Given the description of an element on the screen output the (x, y) to click on. 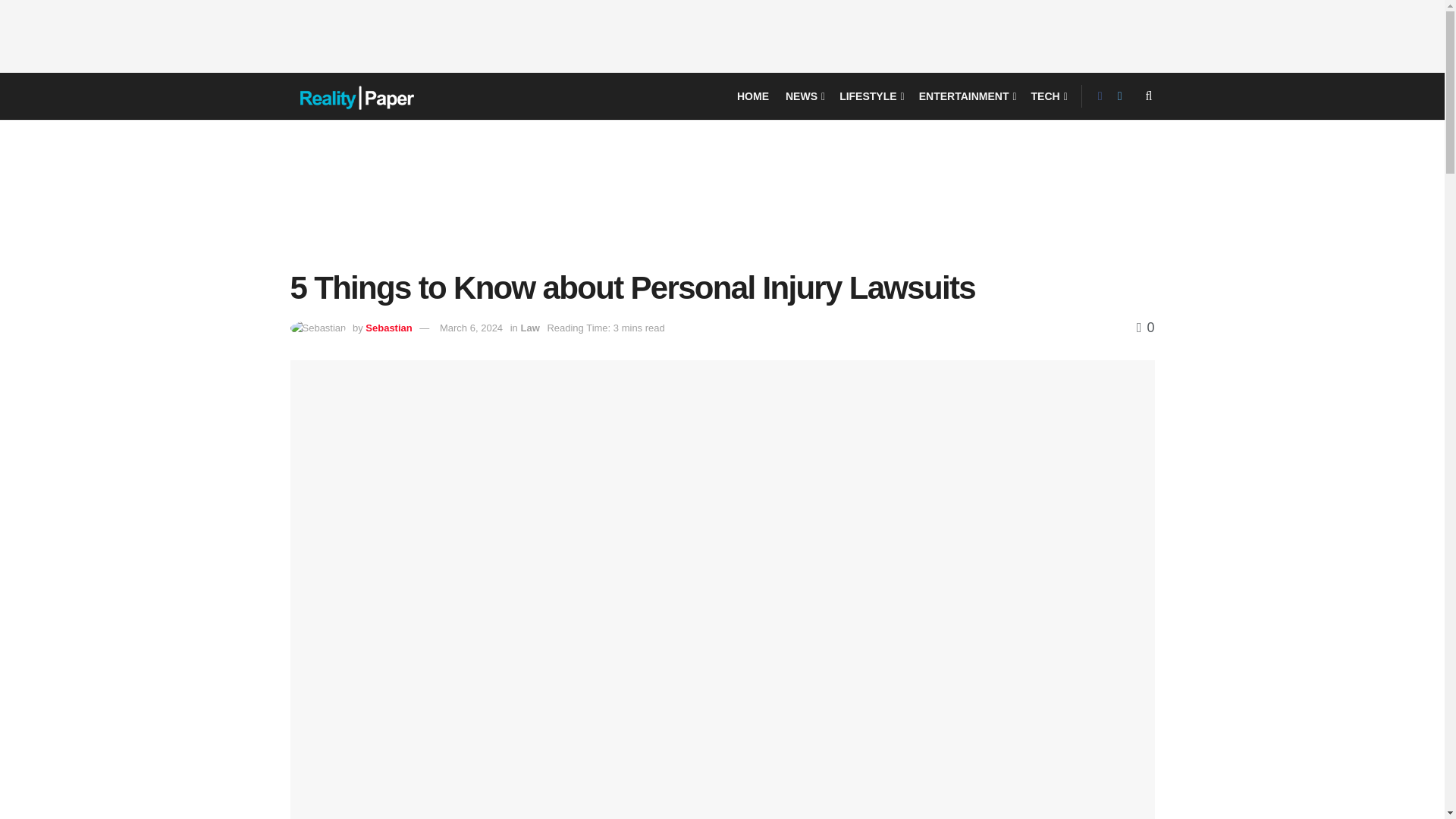
March 6, 2024 (470, 327)
0 (1145, 327)
LIFESTYLE (871, 95)
ENTERTAINMENT (966, 95)
Sebastian (388, 327)
TECH (1047, 95)
Law (528, 327)
NEWS (804, 95)
